Given the description of an element on the screen output the (x, y) to click on. 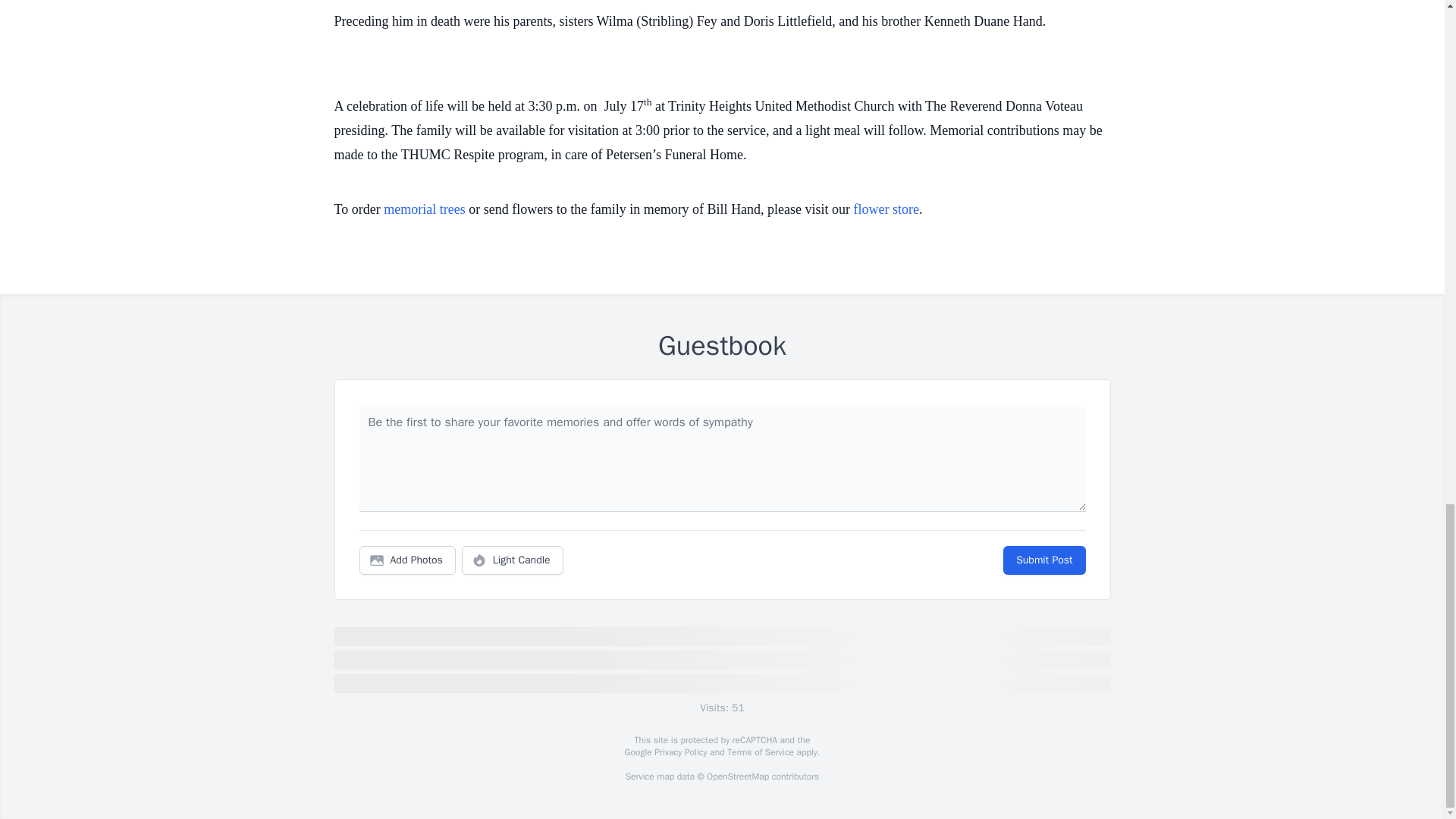
Add Photos (407, 560)
memorial trees (424, 209)
Privacy Policy (679, 752)
Light Candle (512, 560)
Submit Post (1043, 560)
Terms of Service (759, 752)
OpenStreetMap (737, 776)
flower store (885, 209)
